Given the description of an element on the screen output the (x, y) to click on. 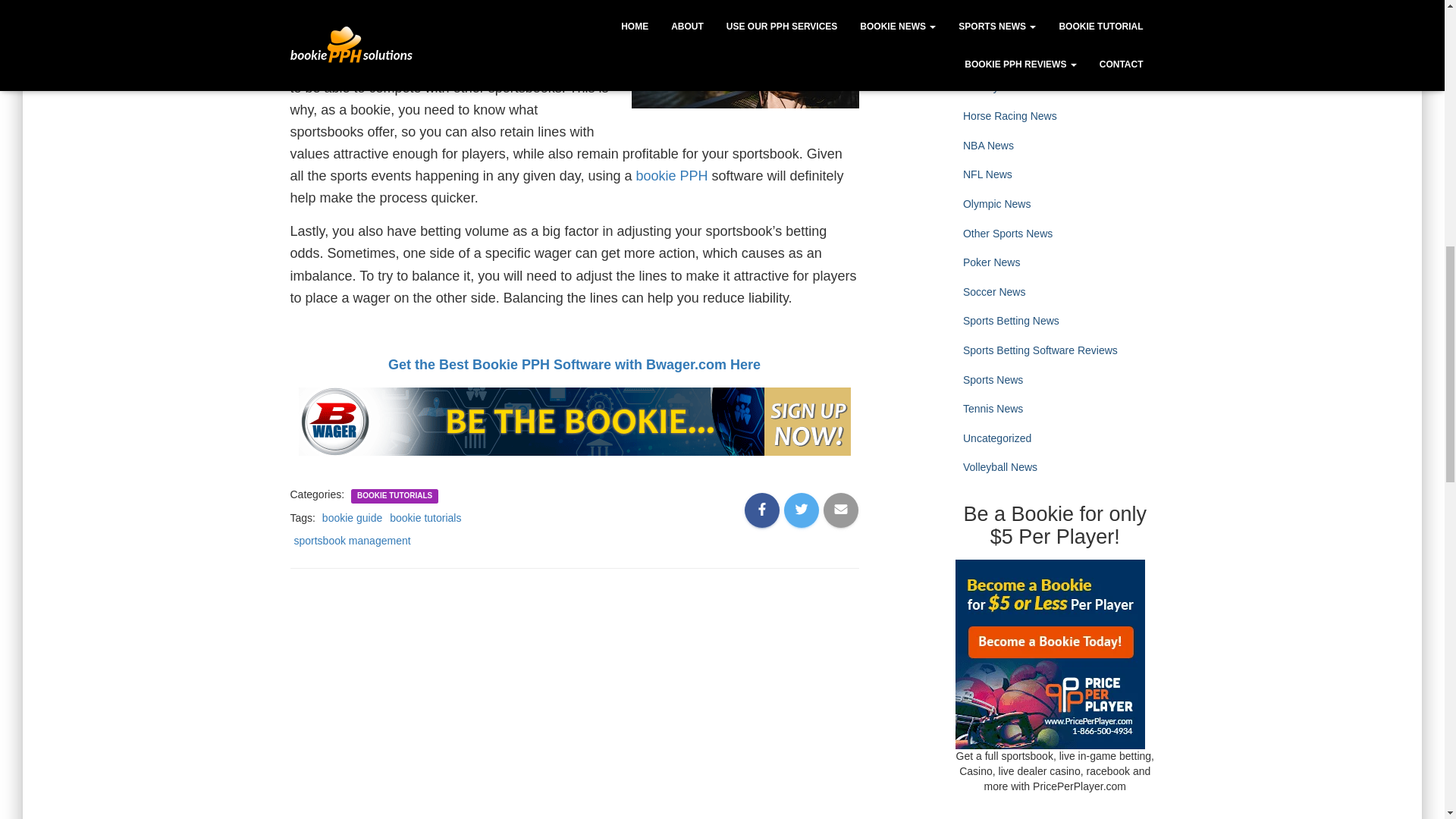
bookie PPH (670, 175)
Get the Best Bookie PPH Software with Bwager.com Here (574, 364)
